Given the description of an element on the screen output the (x, y) to click on. 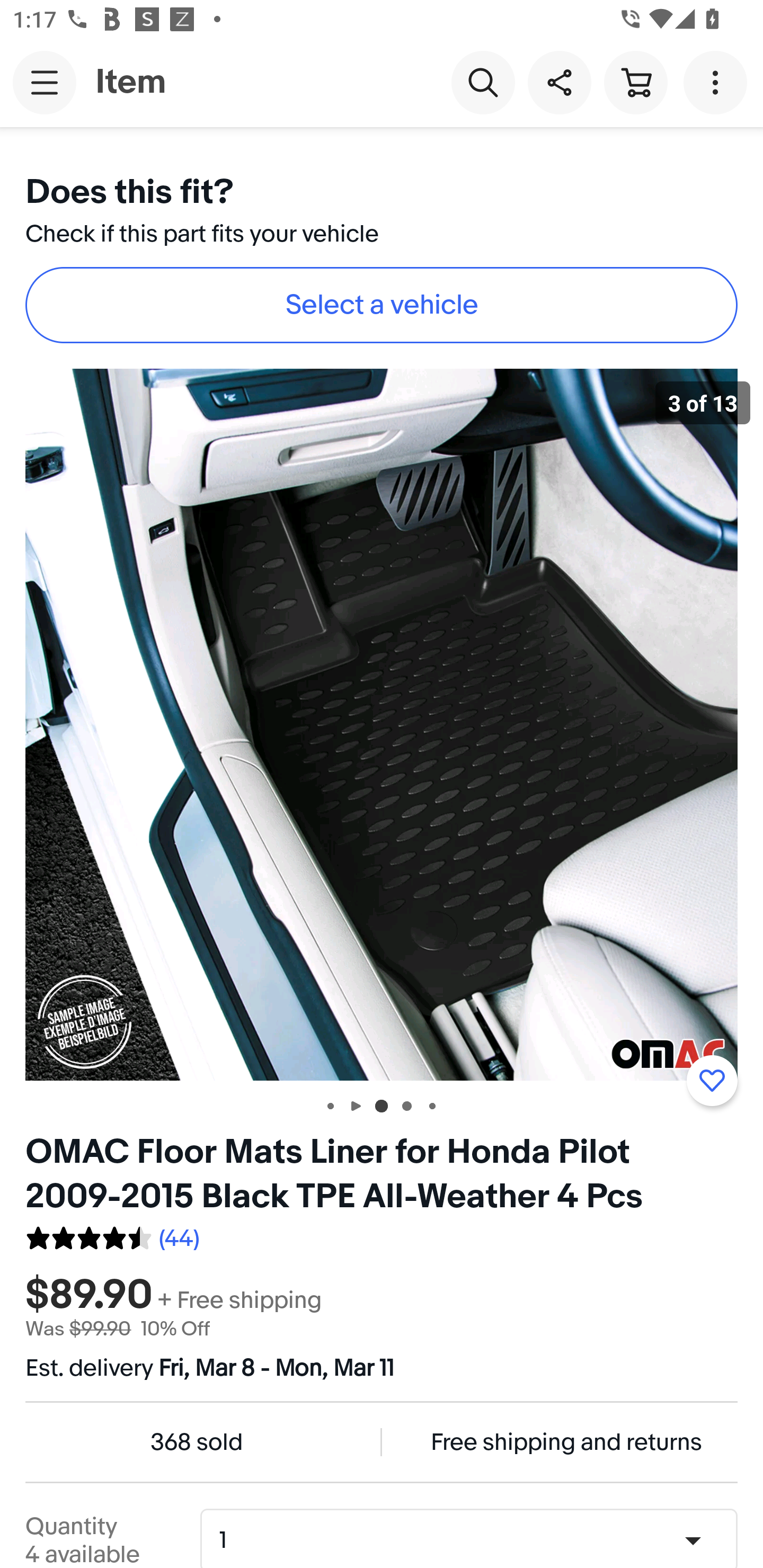
Main navigation, open (44, 82)
Search (482, 81)
Share this item (559, 81)
Cart button shopping cart (635, 81)
More options (718, 81)
Select a vehicle (381, 304)
Item image 3 of 13 (381, 724)
Add to watchlist (711, 1080)
Quantity,1,4 available 1 (474, 1540)
